Given the description of an element on the screen output the (x, y) to click on. 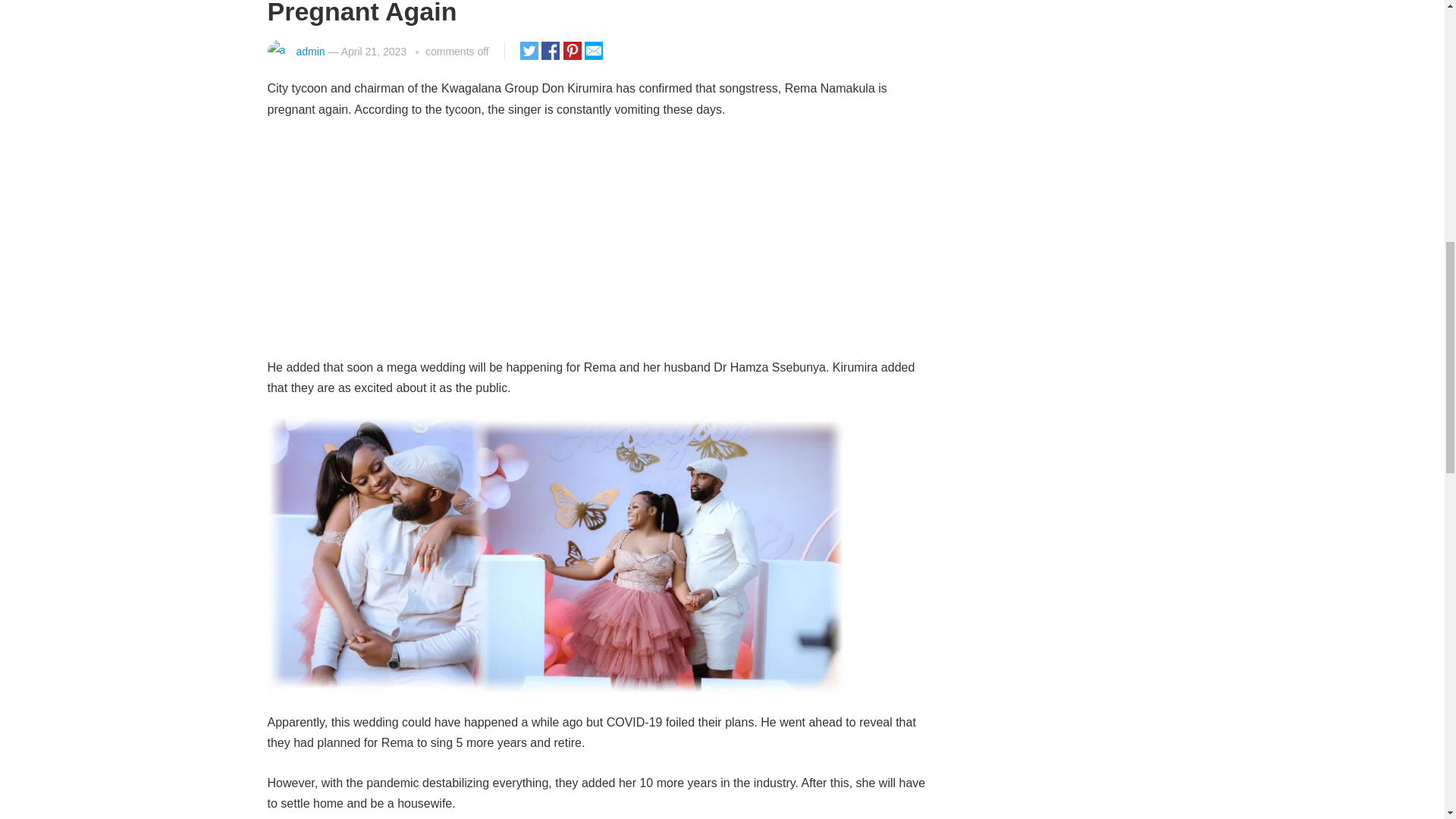
Posts by admin (309, 51)
admin (309, 51)
